Given the description of an element on the screen output the (x, y) to click on. 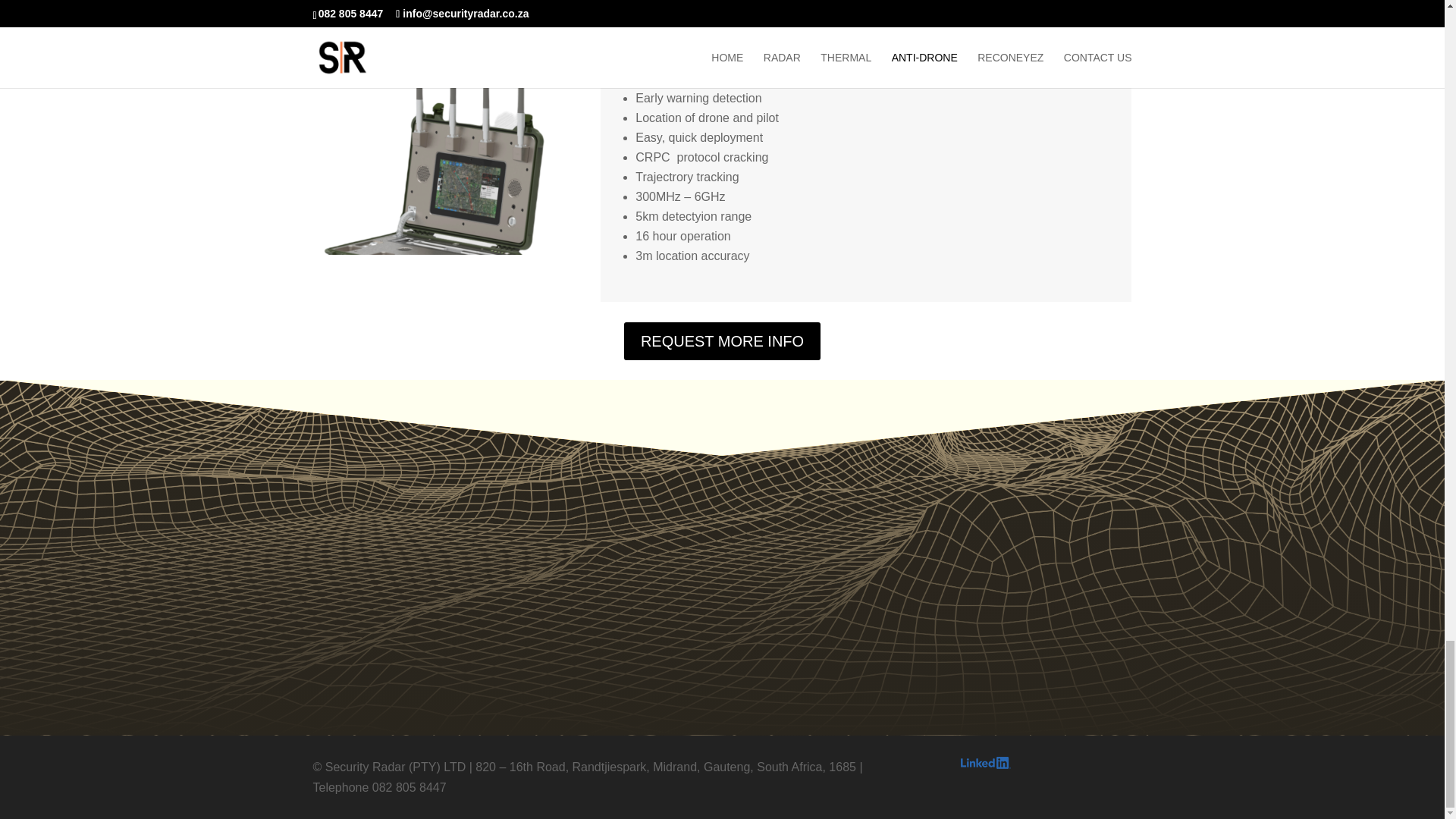
detec-track-drones (433, 250)
SUMMARY (656, 26)
REQUEST MORE INFO (722, 341)
